Given the description of an element on the screen output the (x, y) to click on. 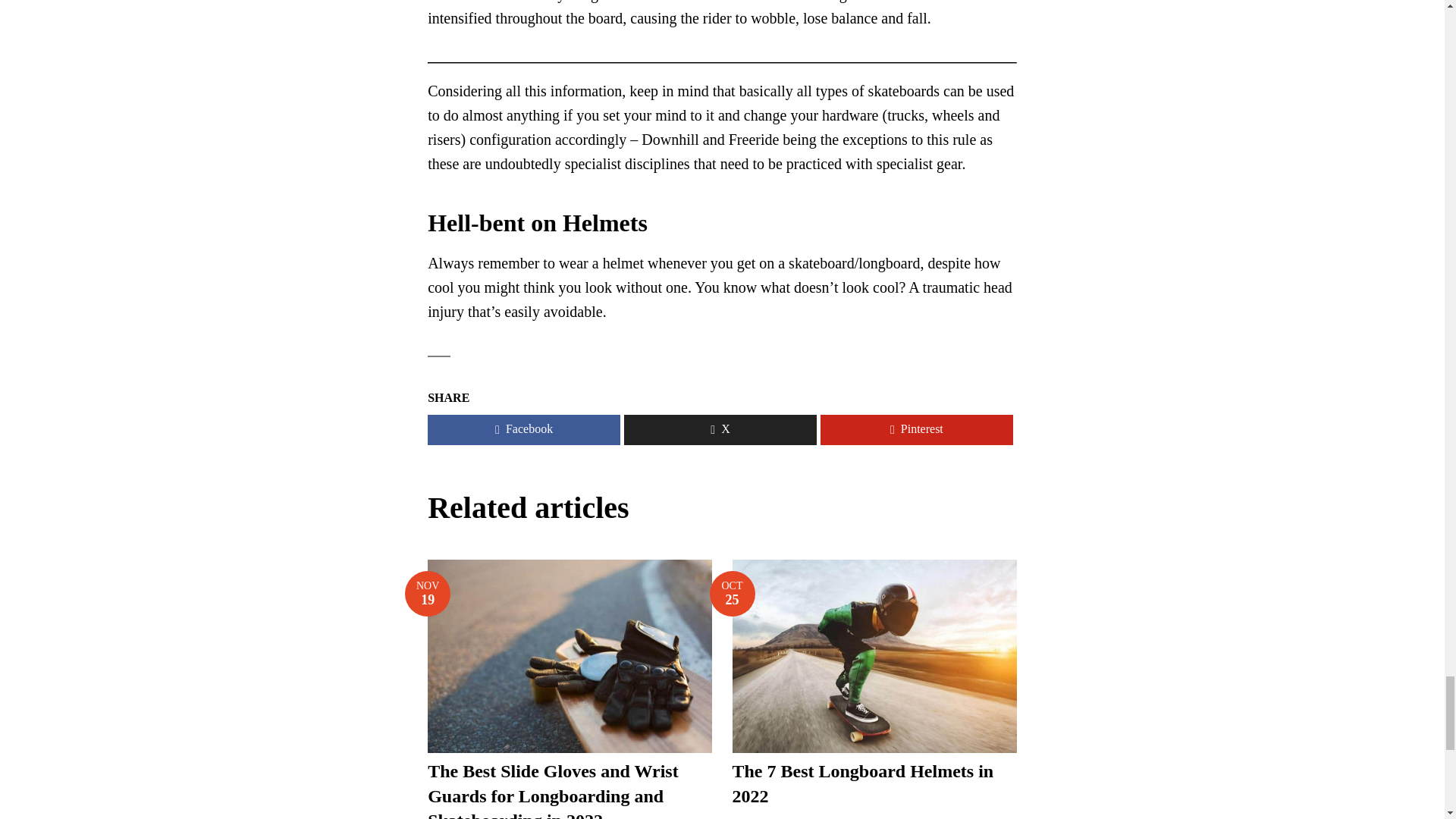
The 7 Best Longboard Helmets in 2022 (732, 593)
Facebook (863, 783)
X (524, 429)
Pinterest (720, 429)
